Given the description of an element on the screen output the (x, y) to click on. 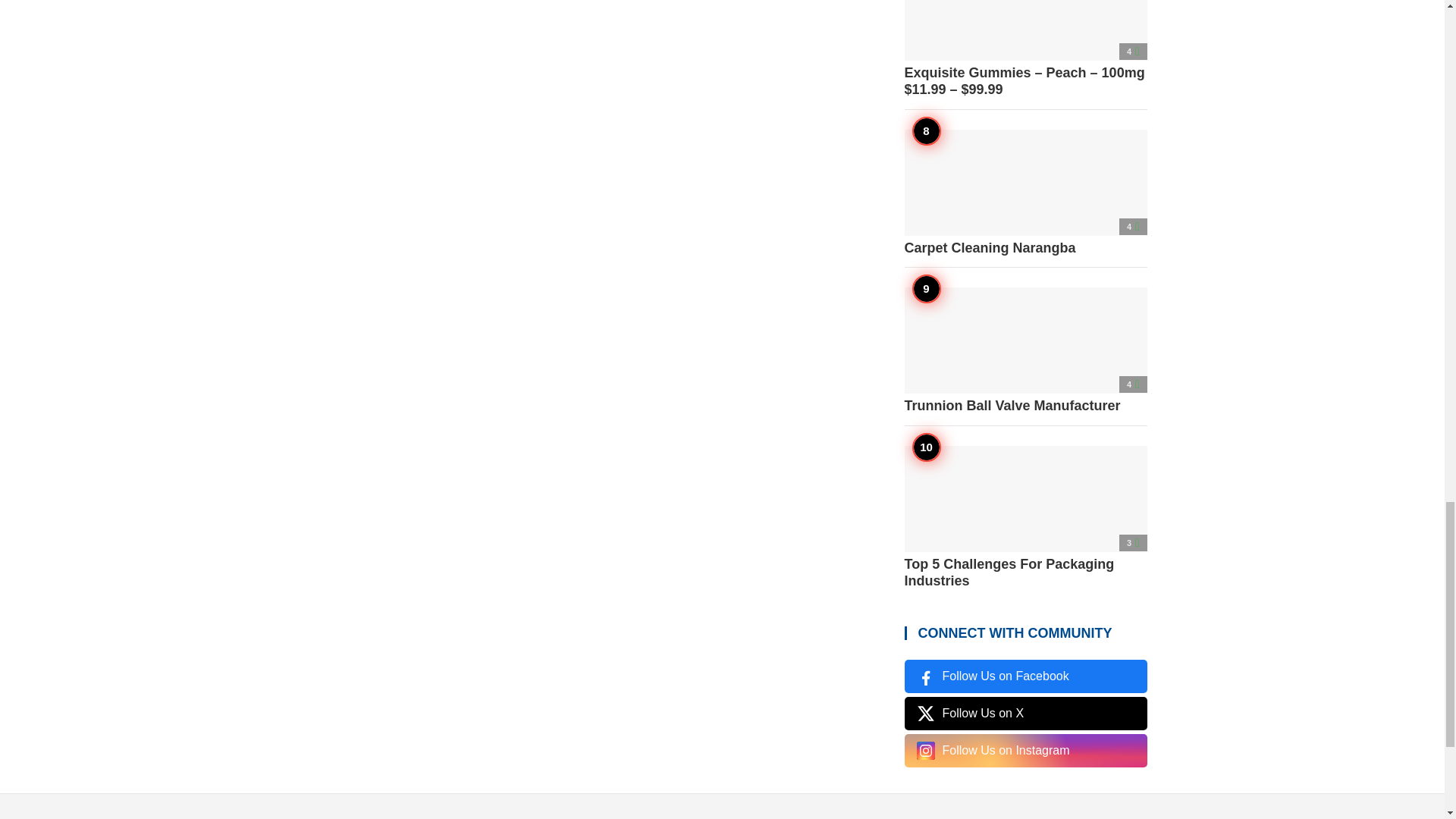
Trunnion Ball Valve Manufacturer (1025, 350)
Top 5 Challenges For Packaging Industries (1025, 517)
Carpet Cleaning Narangba (1025, 192)
